Given the description of an element on the screen output the (x, y) to click on. 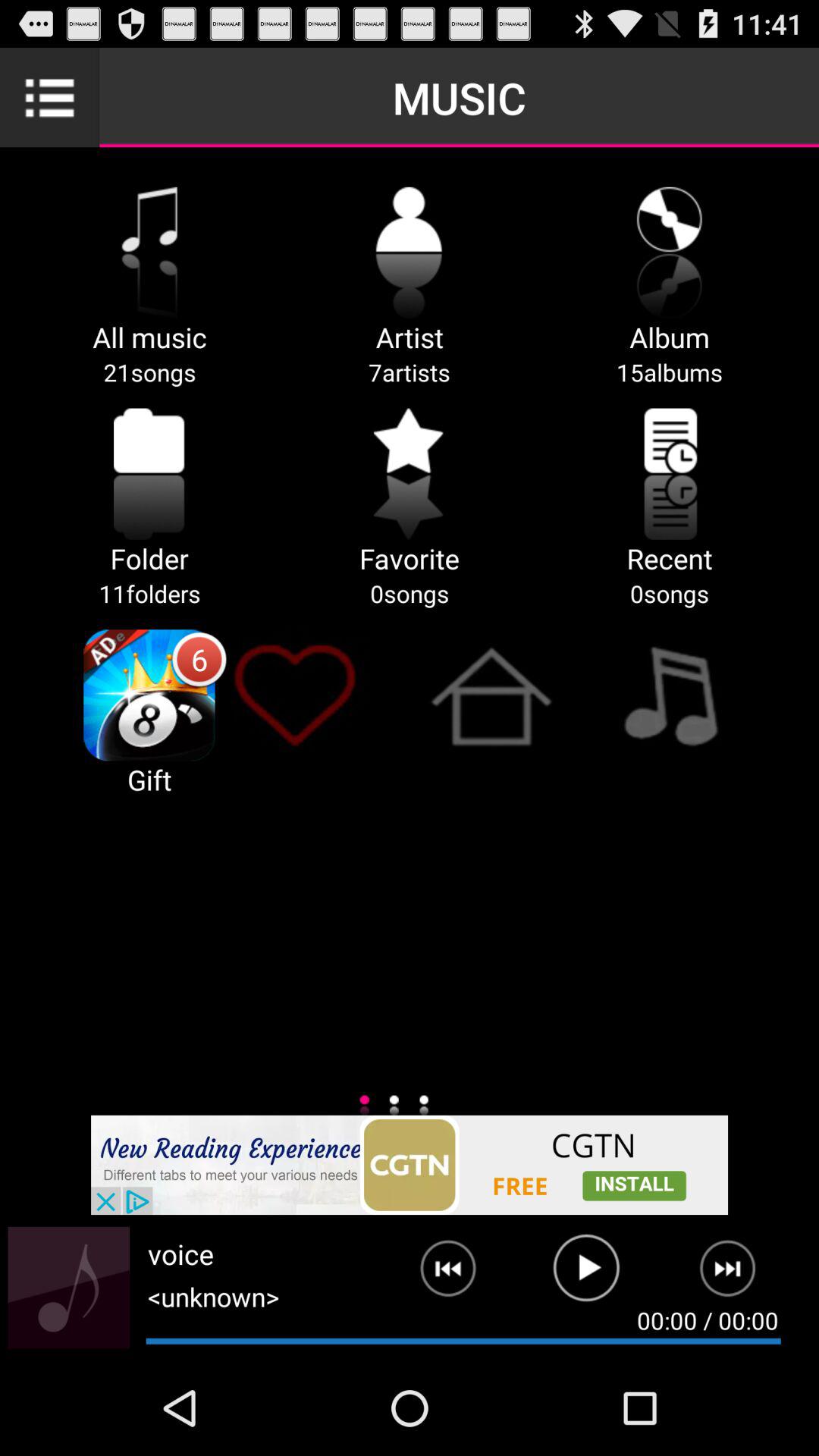
fast forward (737, 1274)
